Given the description of an element on the screen output the (x, y) to click on. 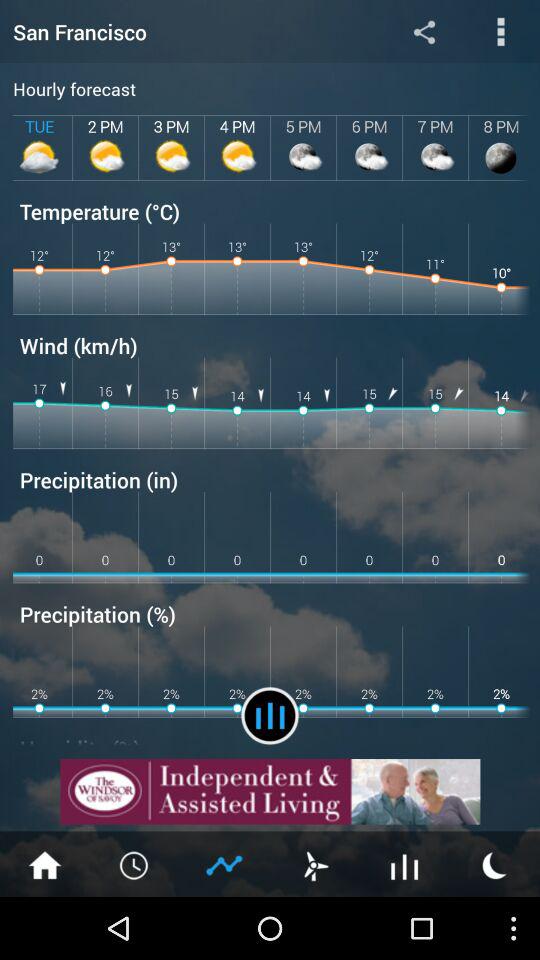
rating (225, 864)
